Given the description of an element on the screen output the (x, y) to click on. 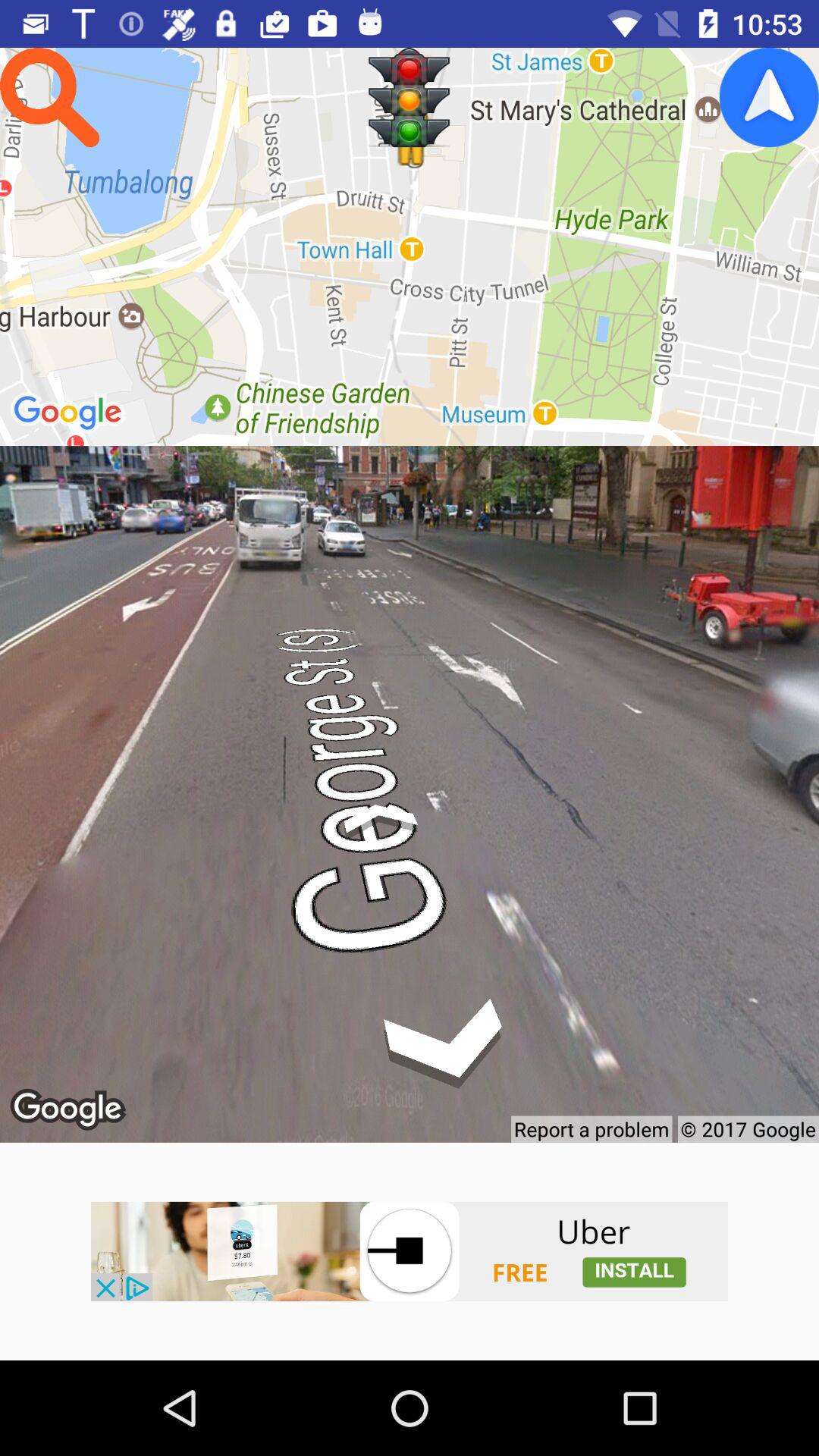
signal page (408, 97)
